Given the description of an element on the screen output the (x, y) to click on. 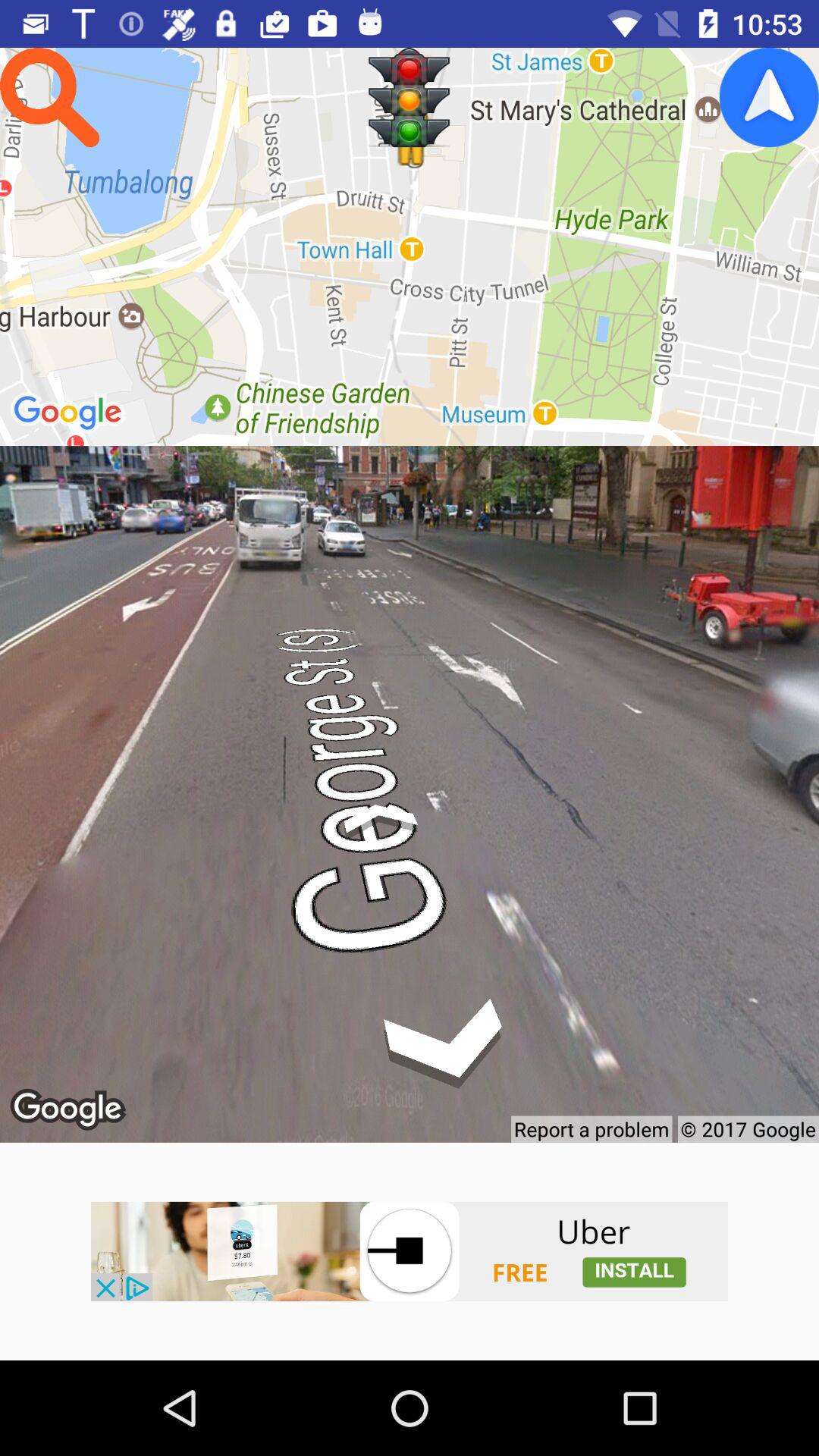
signal page (408, 97)
